Given the description of an element on the screen output the (x, y) to click on. 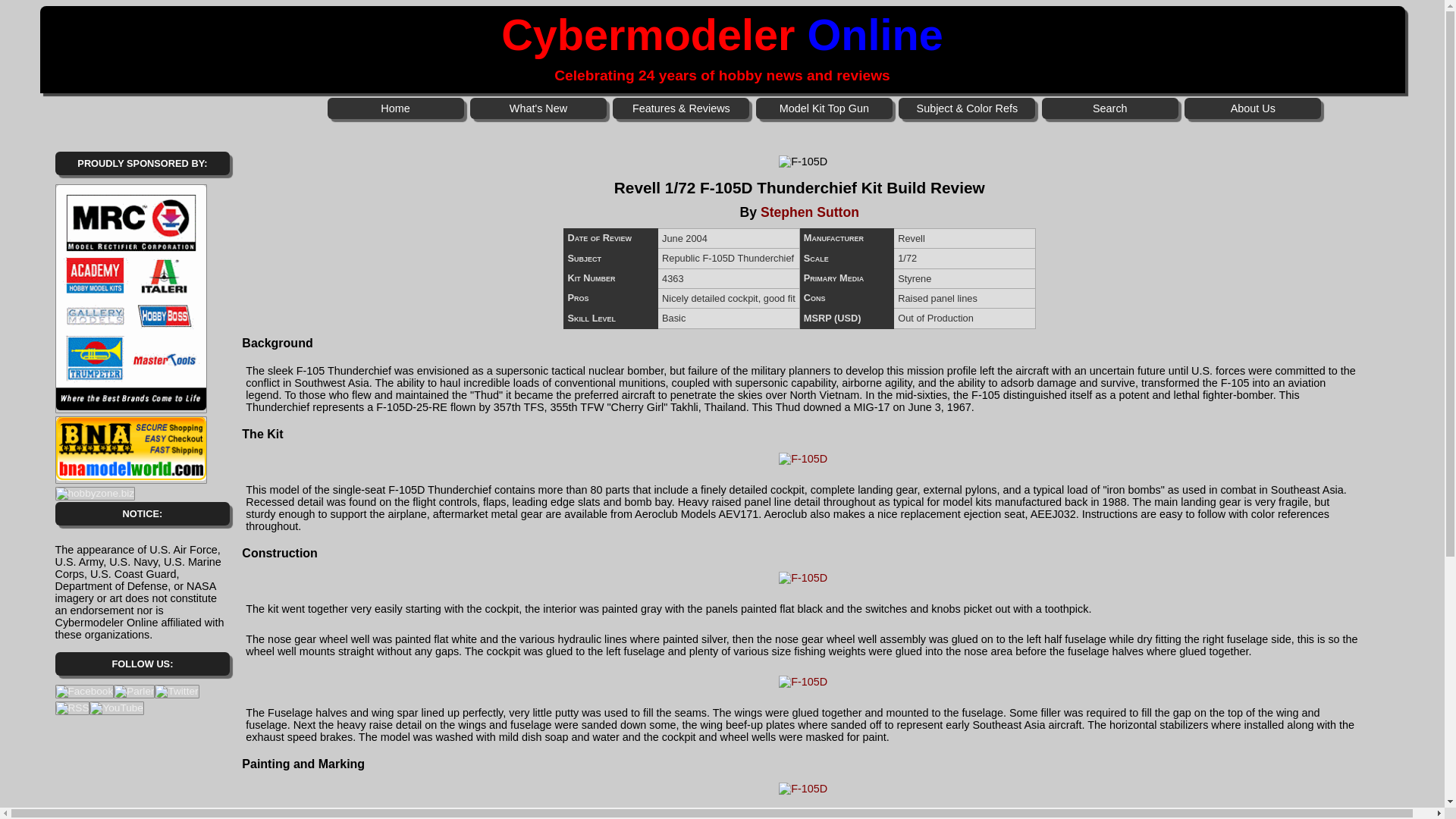
Home (395, 107)
Model Kit Top Gun (823, 107)
About Us (1252, 107)
What's New (538, 107)
Search (1109, 107)
Stephen Sutton (809, 212)
